Given the description of an element on the screen output the (x, y) to click on. 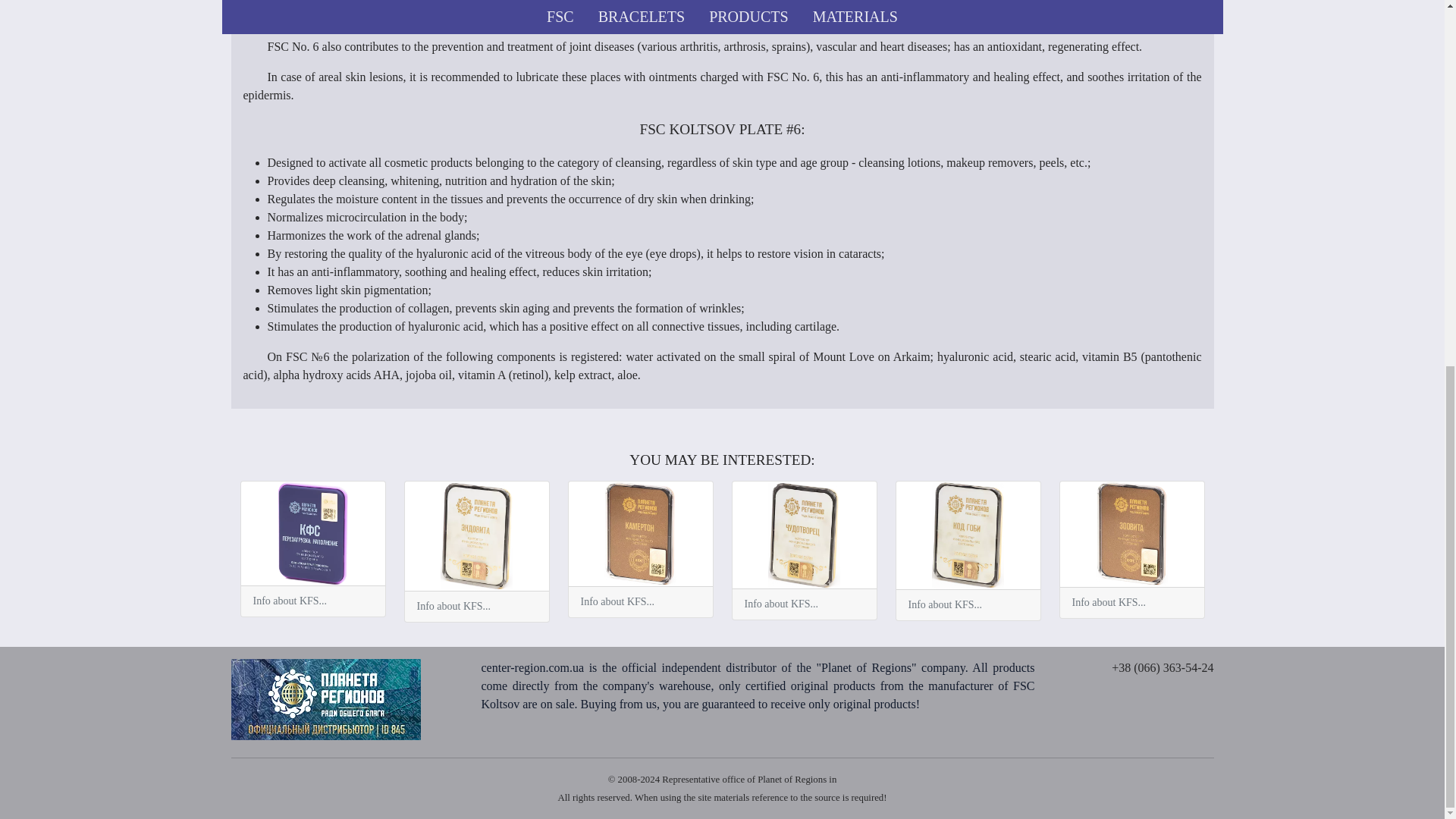
Telegram (1172, 686)
Viber (1199, 686)
